Given the description of an element on the screen output the (x, y) to click on. 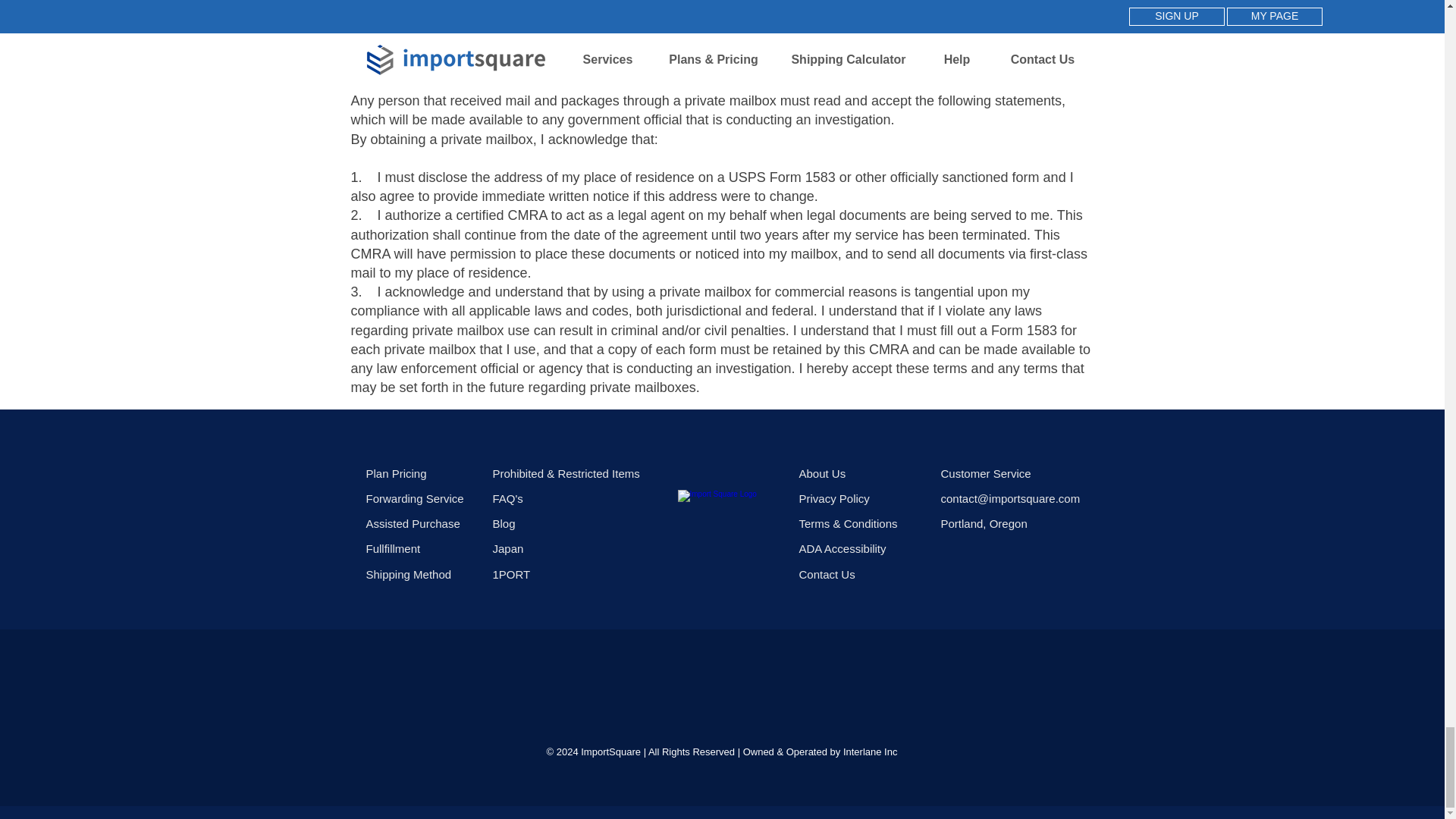
1PORT (569, 573)
Shipping Method (422, 573)
Assisted Purchase (422, 523)
Plan Pricing (422, 473)
Forwarding Service (422, 497)
Privacy Policy (861, 497)
Blog (569, 523)
Fullfillment (422, 547)
Japan (569, 547)
Contact Us (827, 573)
ADA Accessibility (861, 547)
FAQ's (569, 497)
Portland, Oregon (983, 523)
About Us (861, 473)
